Given the description of an element on the screen output the (x, y) to click on. 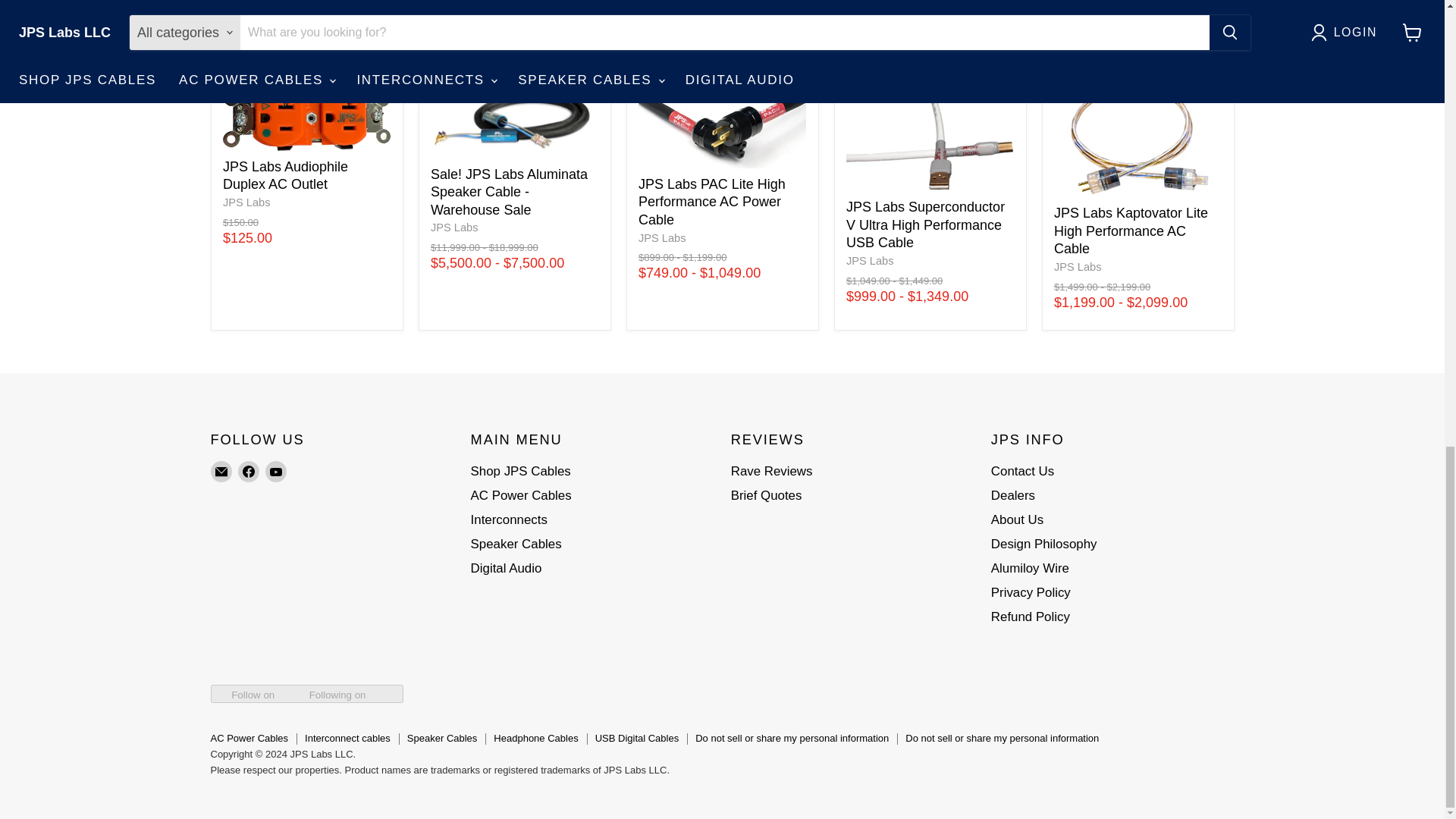
YouTube (275, 471)
JPS Labs (869, 260)
JPS Labs (1078, 266)
JPS Labs (662, 237)
JPS Labs (246, 202)
JPS Labs (454, 227)
Facebook (248, 471)
Email (221, 471)
